Given the description of an element on the screen output the (x, y) to click on. 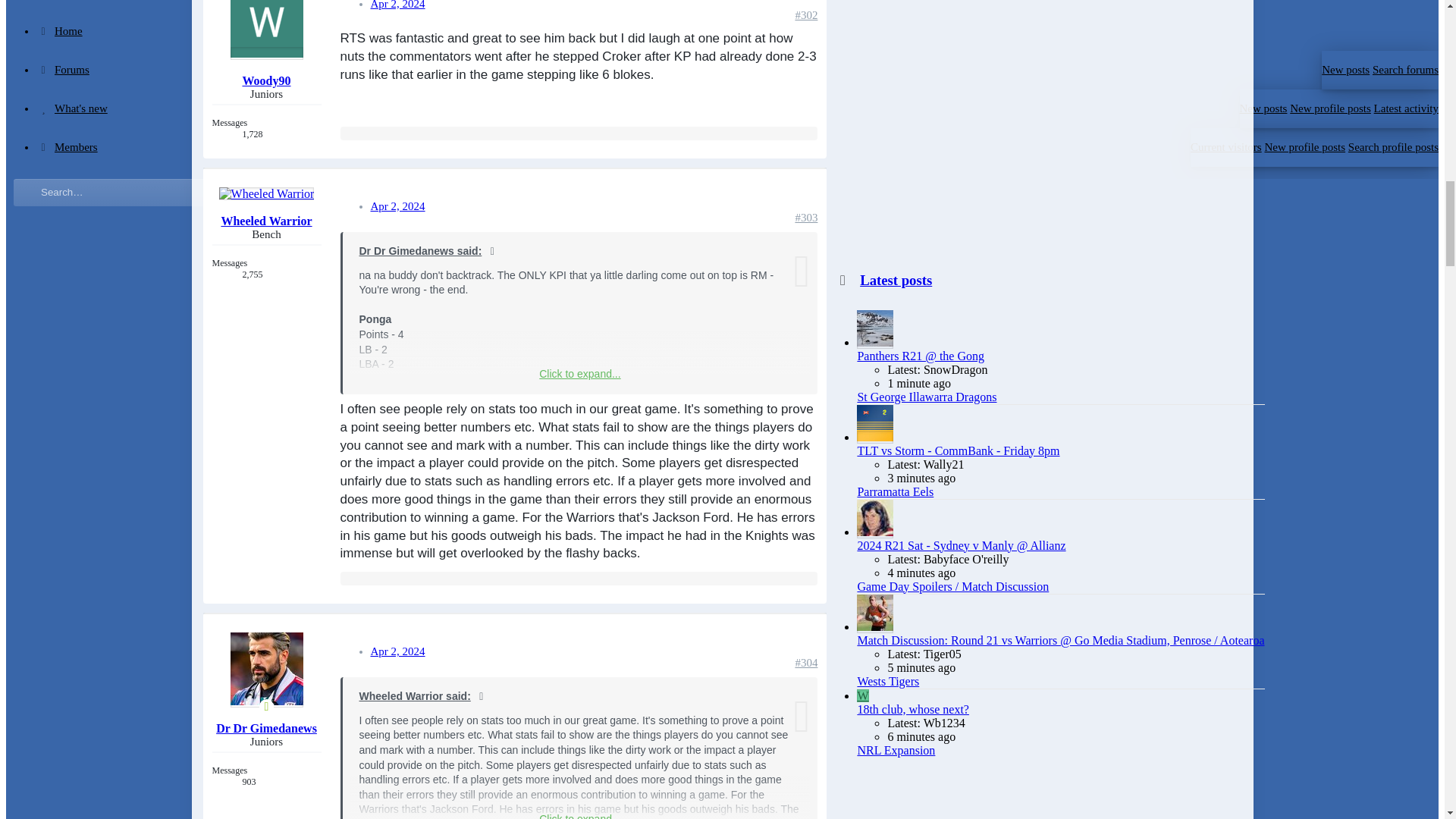
Apr 2, 2024 at 8:31 PM (397, 205)
Apr 2, 2024 at 8:41 PM (397, 651)
Apr 2, 2024 at 8:22 PM (397, 4)
